Given the description of an element on the screen output the (x, y) to click on. 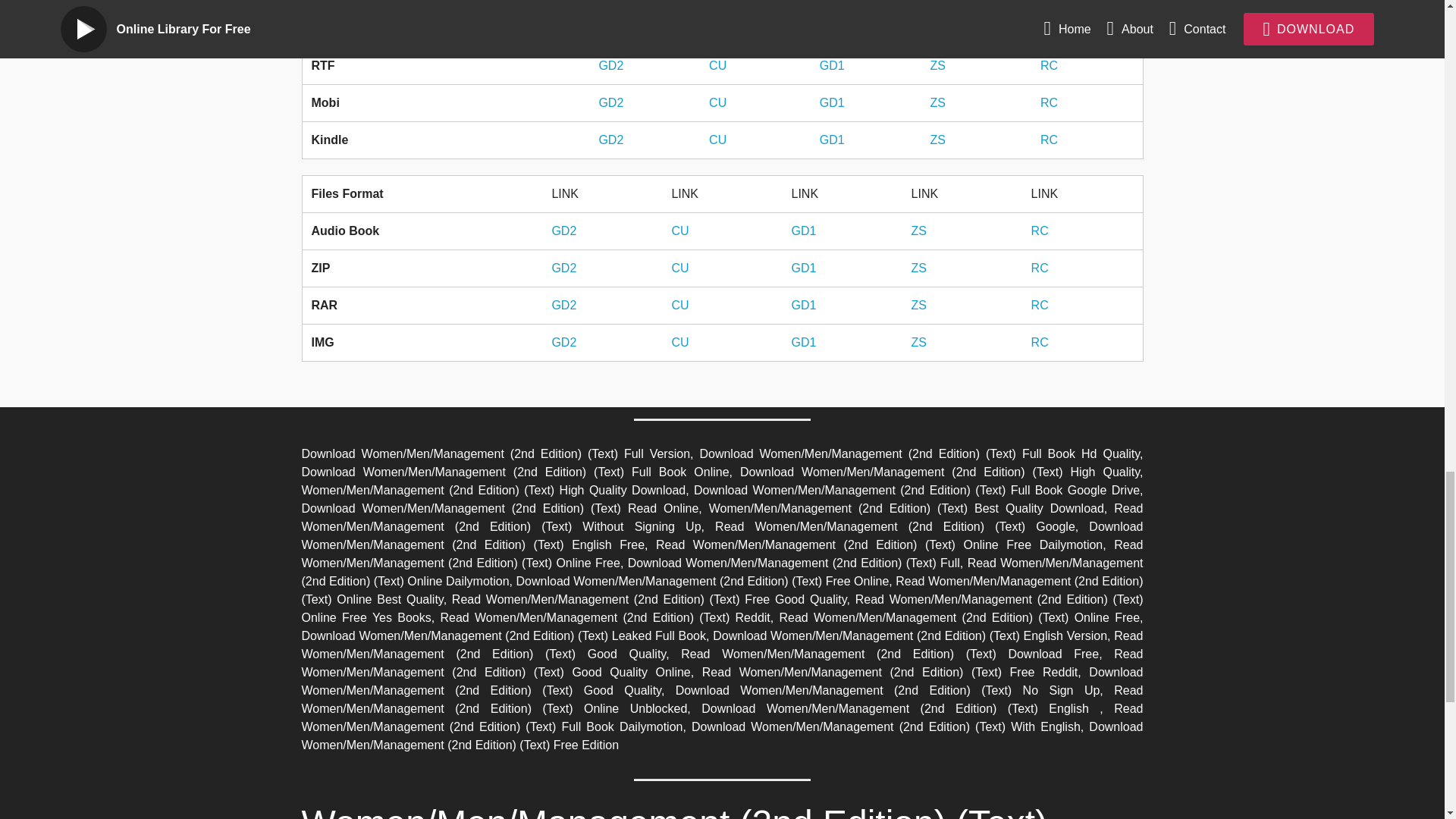
GD1 (831, 65)
RC (1049, 28)
RC (1049, 102)
ZS (937, 102)
GD2 (610, 28)
RC (1039, 230)
CU (717, 65)
GD2 (563, 230)
GD1 (802, 267)
ZS (937, 139)
ZS (918, 230)
CU (717, 102)
GD1 (831, 102)
